Given the description of an element on the screen output the (x, y) to click on. 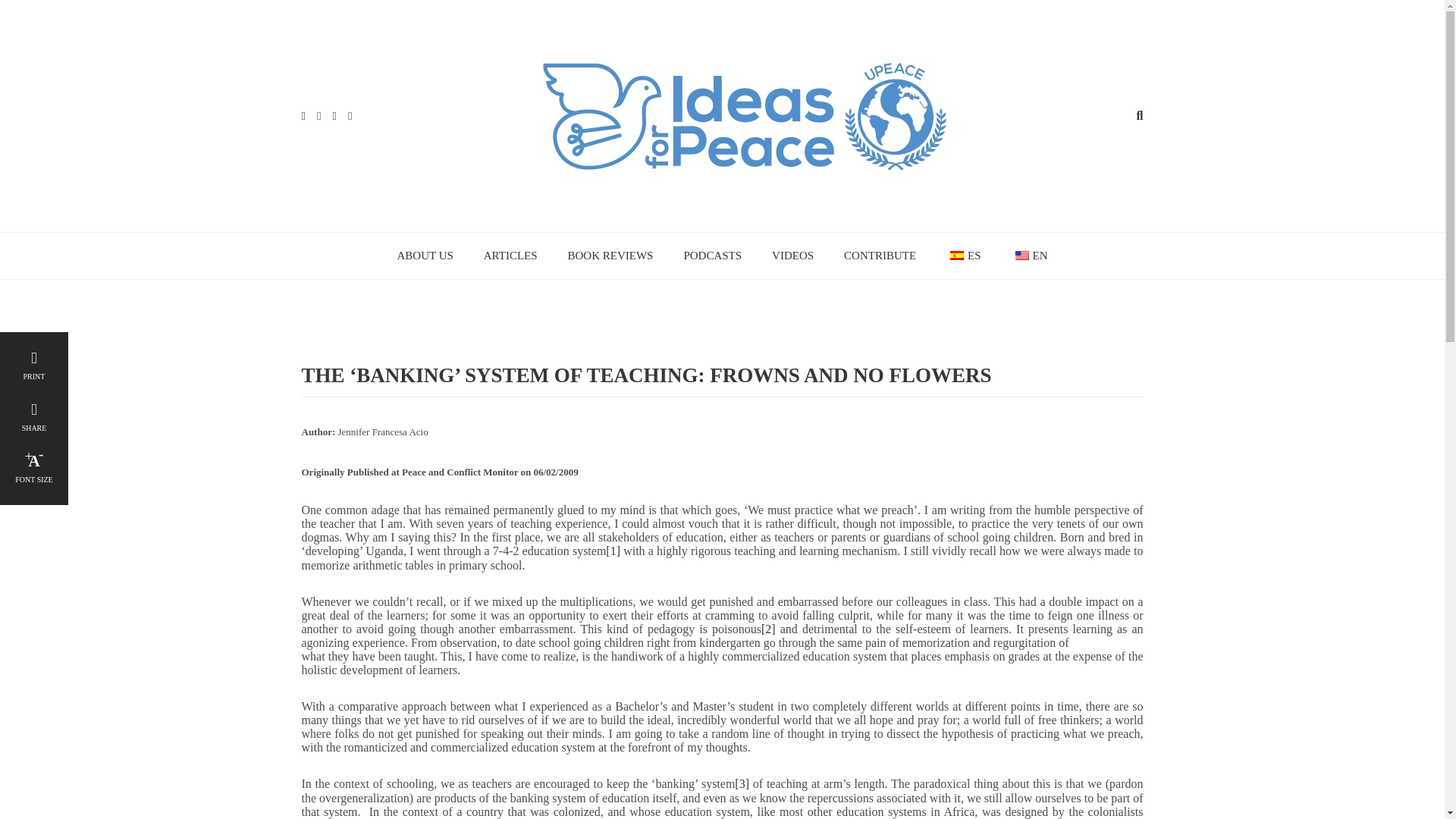
BOOK REVIEWS (610, 255)
ES (963, 255)
ABOUT US (424, 255)
CONTRIBUTE (879, 255)
Ideas for Peace (744, 114)
VIDEOS (792, 255)
English (1021, 255)
ARTICLES (510, 255)
EN (1028, 255)
PODCASTS (712, 255)
